Given the description of an element on the screen output the (x, y) to click on. 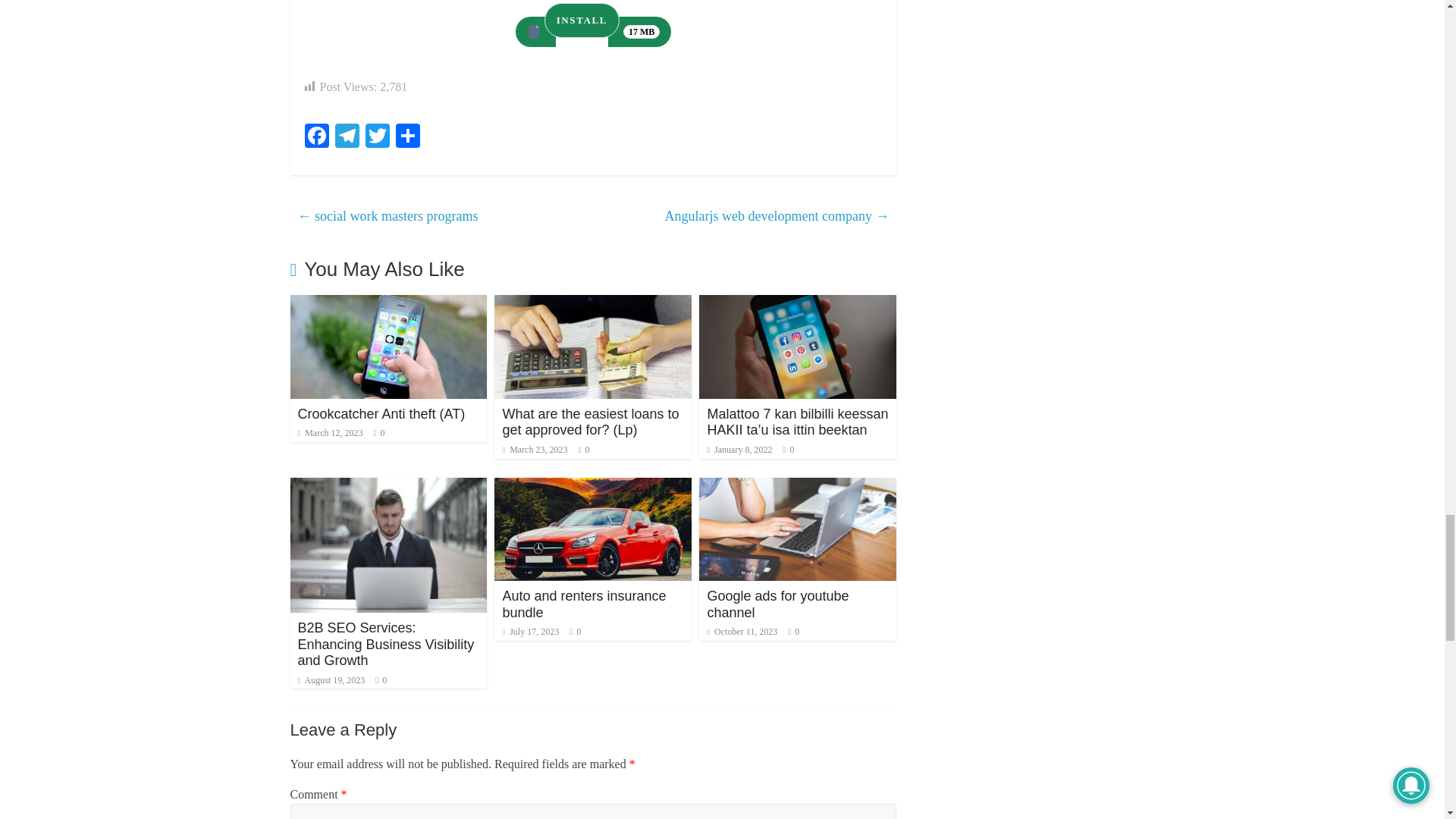
Twitter (377, 137)
March 12, 2023 (329, 432)
0 (587, 449)
INSTALL (582, 20)
Telegram (346, 137)
0 (382, 432)
March 23, 2023 (534, 449)
Facebook (316, 137)
